Given the description of an element on the screen output the (x, y) to click on. 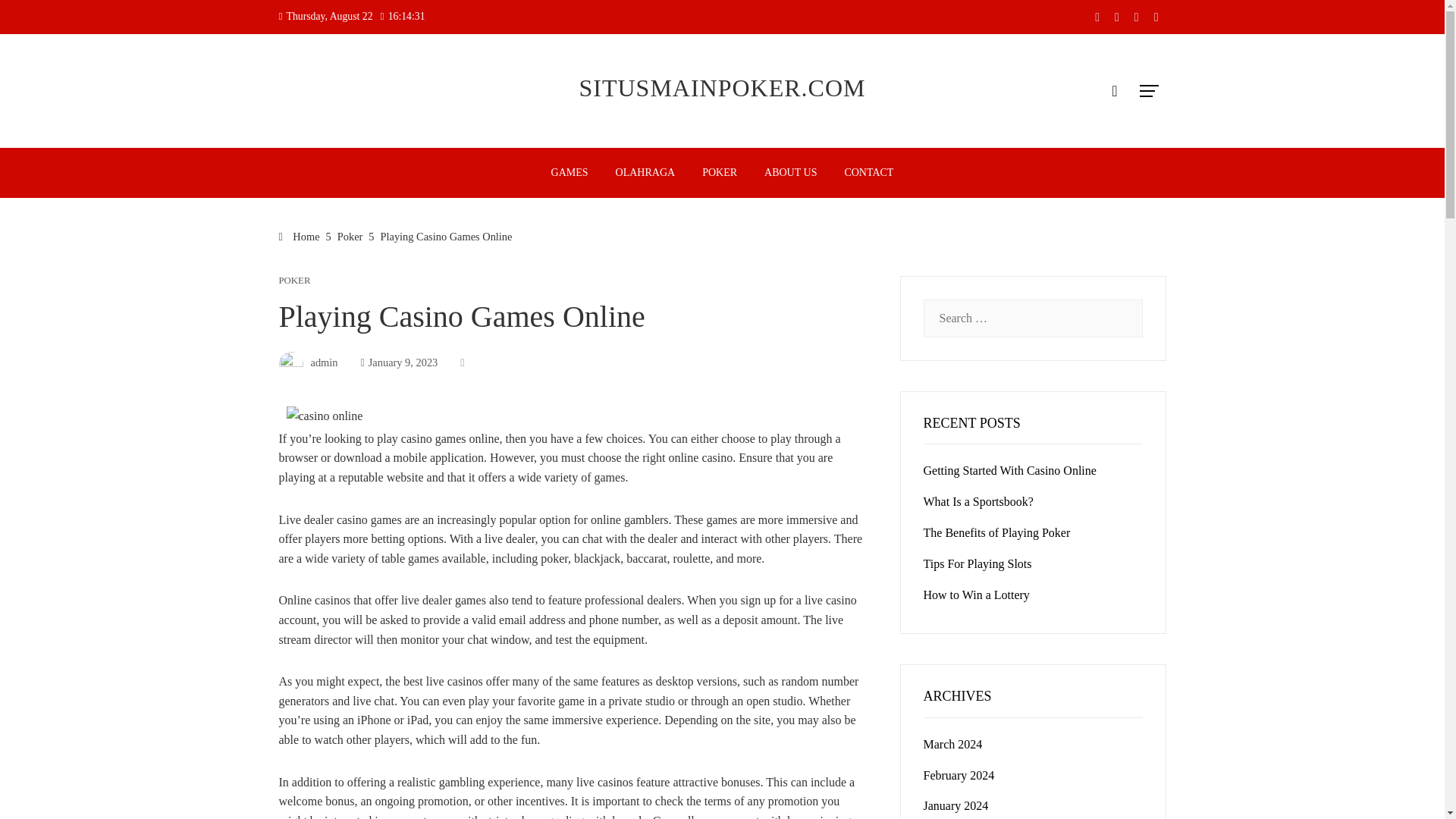
ABOUT US (790, 173)
What Is a Sportsbook? (978, 501)
Getting Started With Casino Online (1009, 470)
Poker (349, 236)
March 2024 (952, 744)
Home (299, 236)
How to Win a Lottery (976, 594)
Tips For Playing Slots (977, 563)
POKER (719, 173)
SITUSMAINPOKER.COM (721, 87)
